Given the description of an element on the screen output the (x, y) to click on. 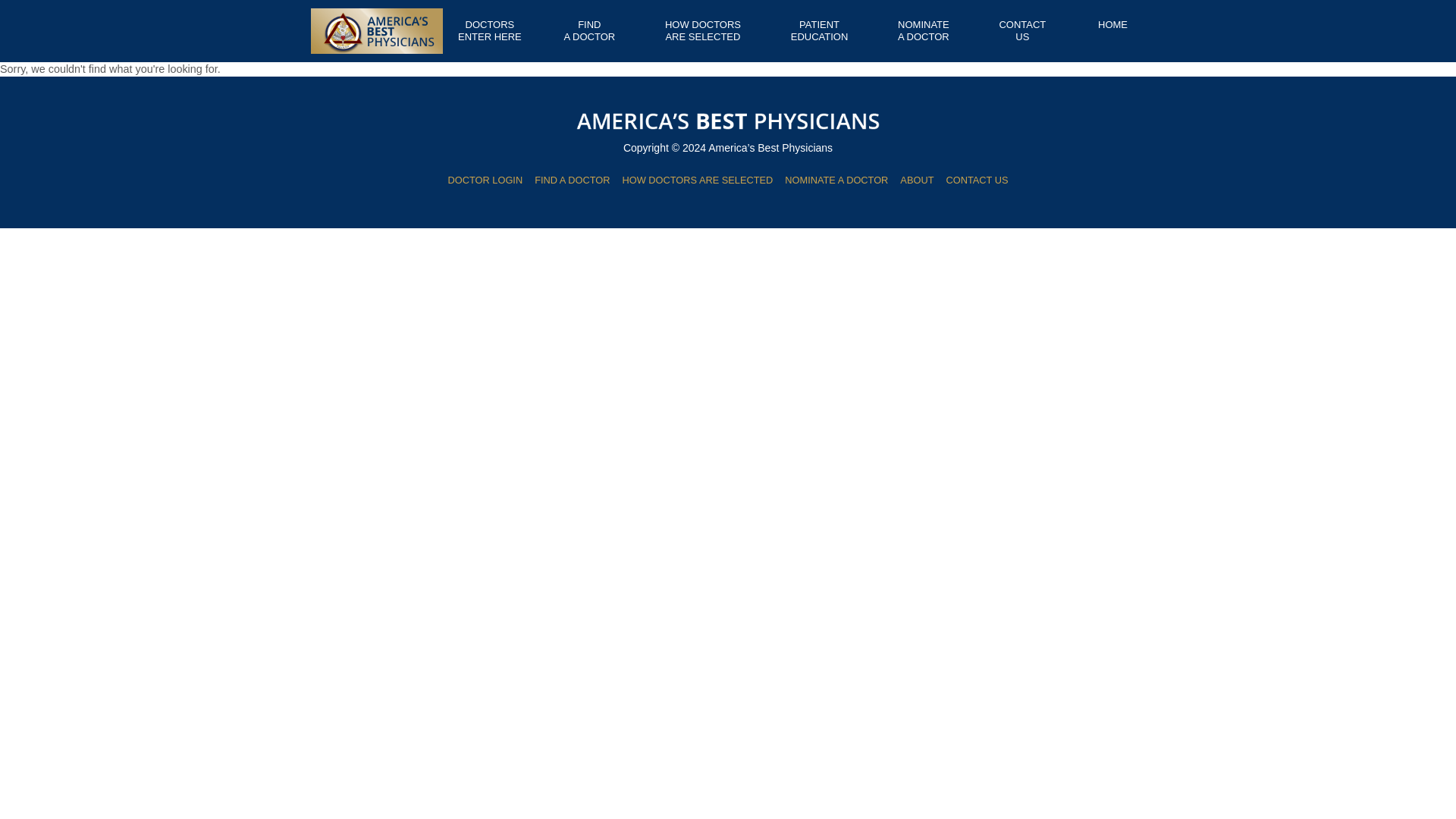
NOMINATE A DOCTOR (923, 30)
DOCTOR LOGIN (489, 30)
HOW DOCTORS ARE SELECTED (819, 30)
HOME (703, 30)
CONTACT US (836, 179)
ABOUT (485, 179)
FIND A DOCTOR (589, 30)
